Given the description of an element on the screen output the (x, y) to click on. 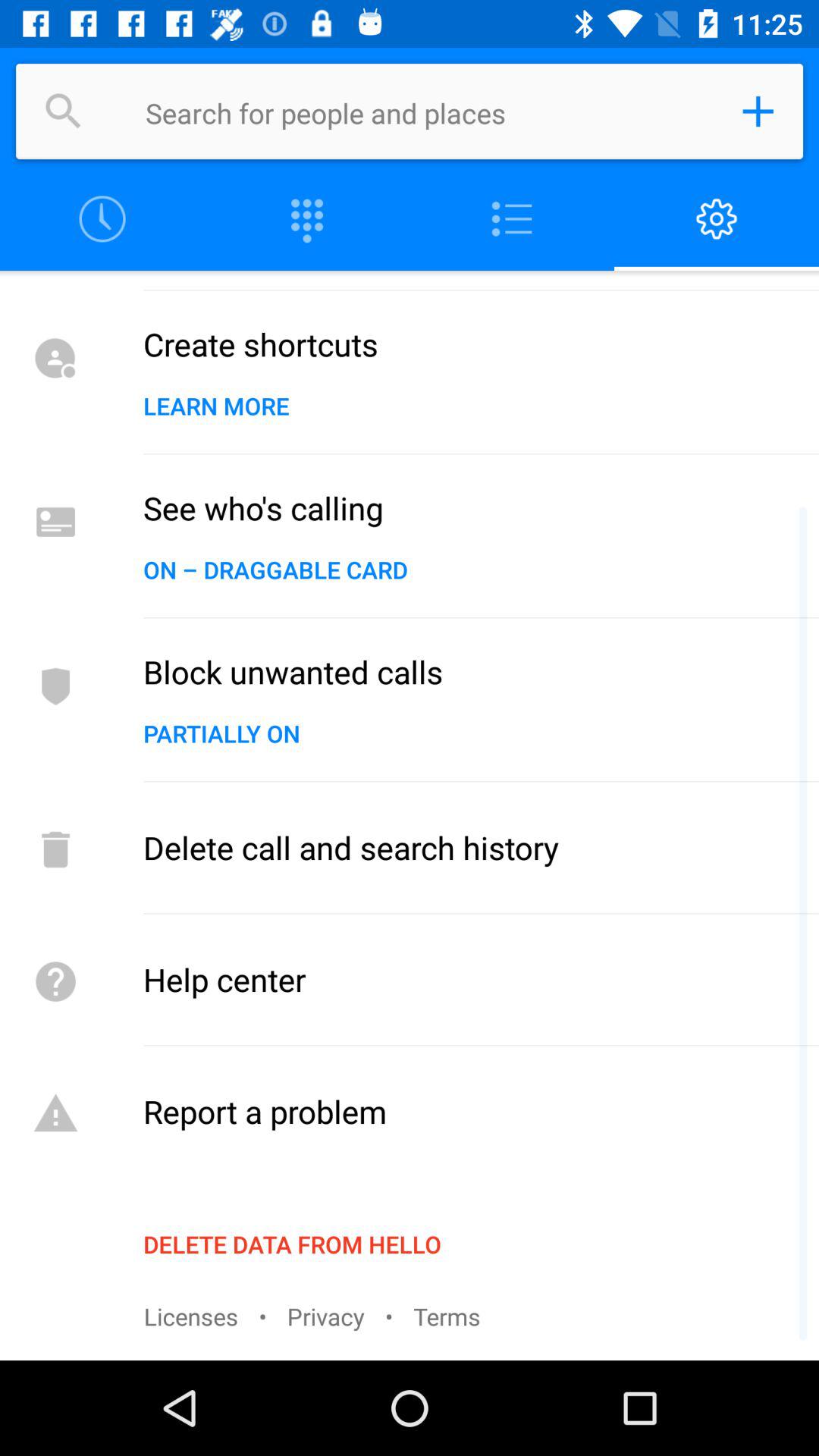
select column (306, 219)
